Given the description of an element on the screen output the (x, y) to click on. 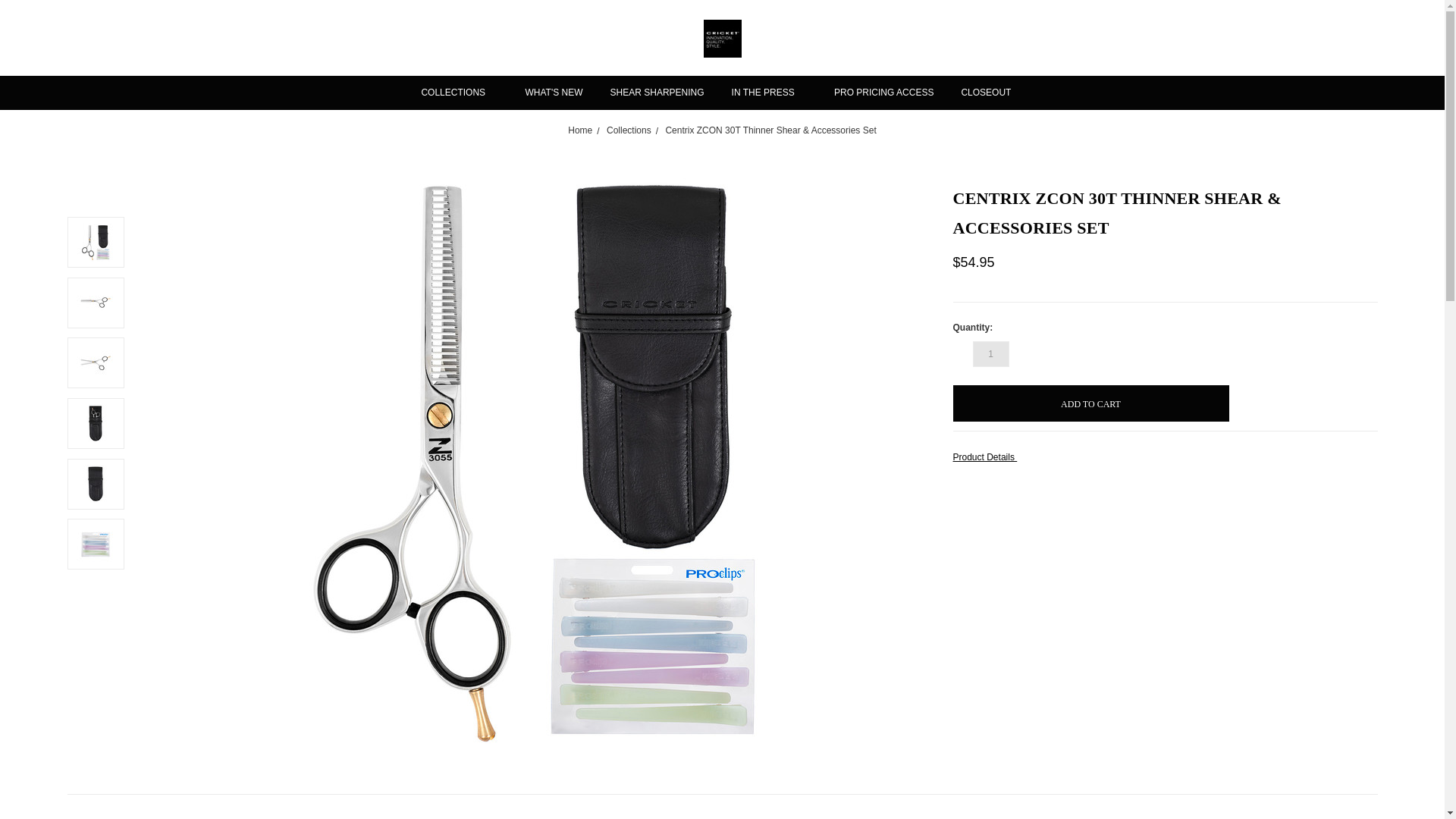
Product Details (1165, 457)
1 (990, 353)
Cricket Company (722, 38)
Add to Cart (1090, 402)
COLLECTIONS (459, 93)
